Given the description of an element on the screen output the (x, y) to click on. 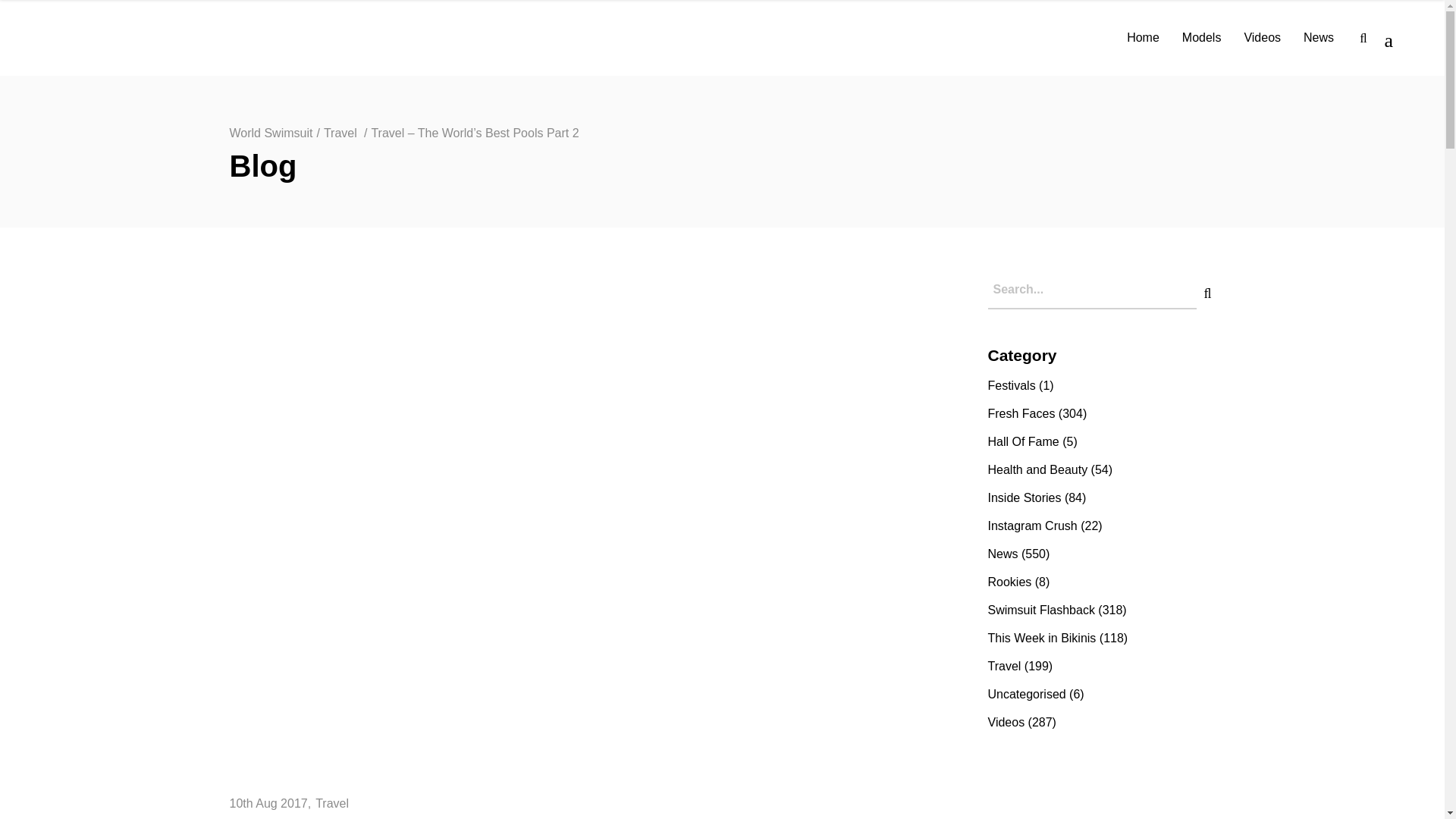
World Swimsuit (270, 133)
Travel (339, 133)
Festivals (1011, 385)
Travel (332, 802)
